Given the description of an element on the screen output the (x, y) to click on. 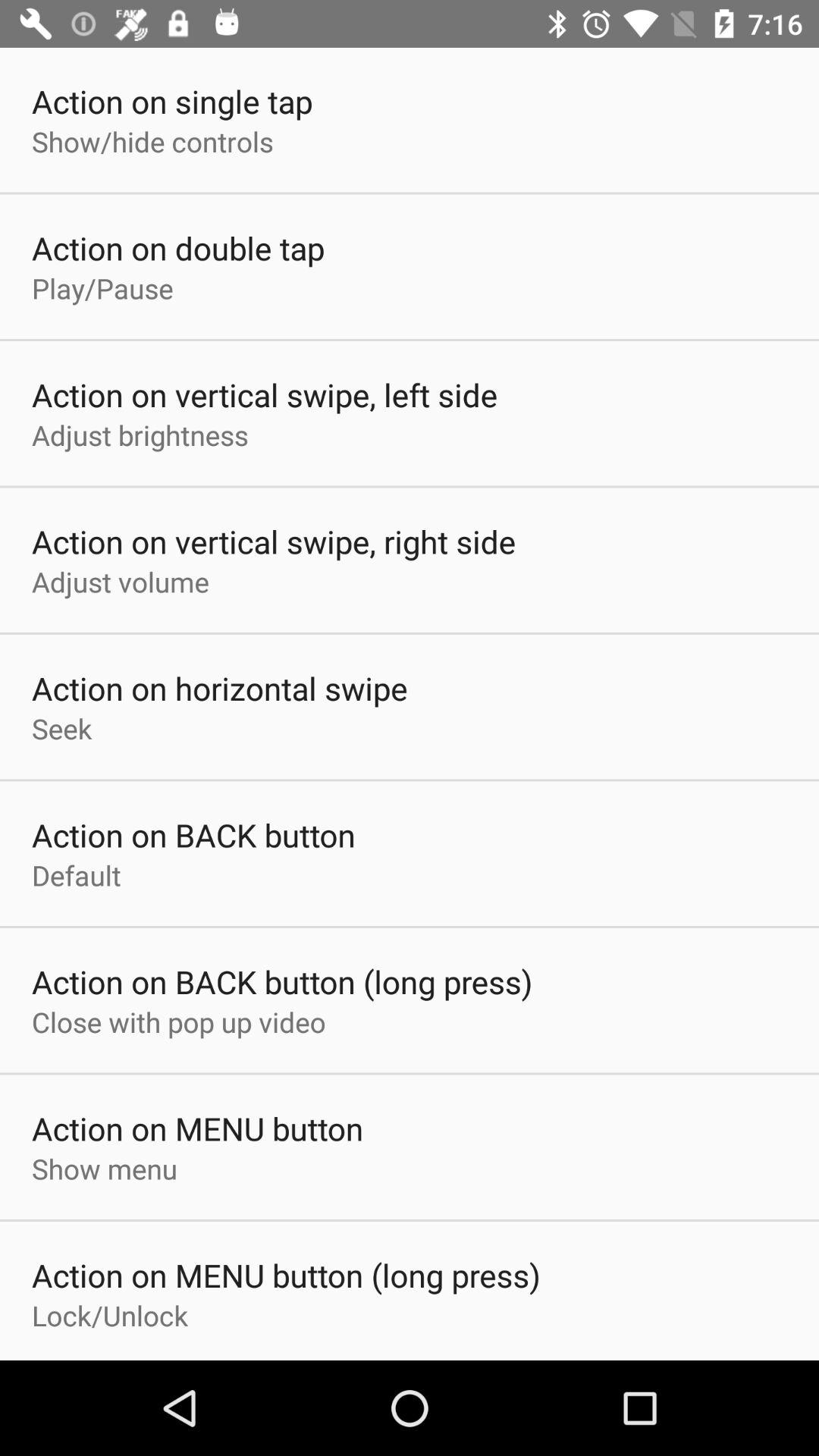
select the show menu app (104, 1168)
